Given the description of an element on the screen output the (x, y) to click on. 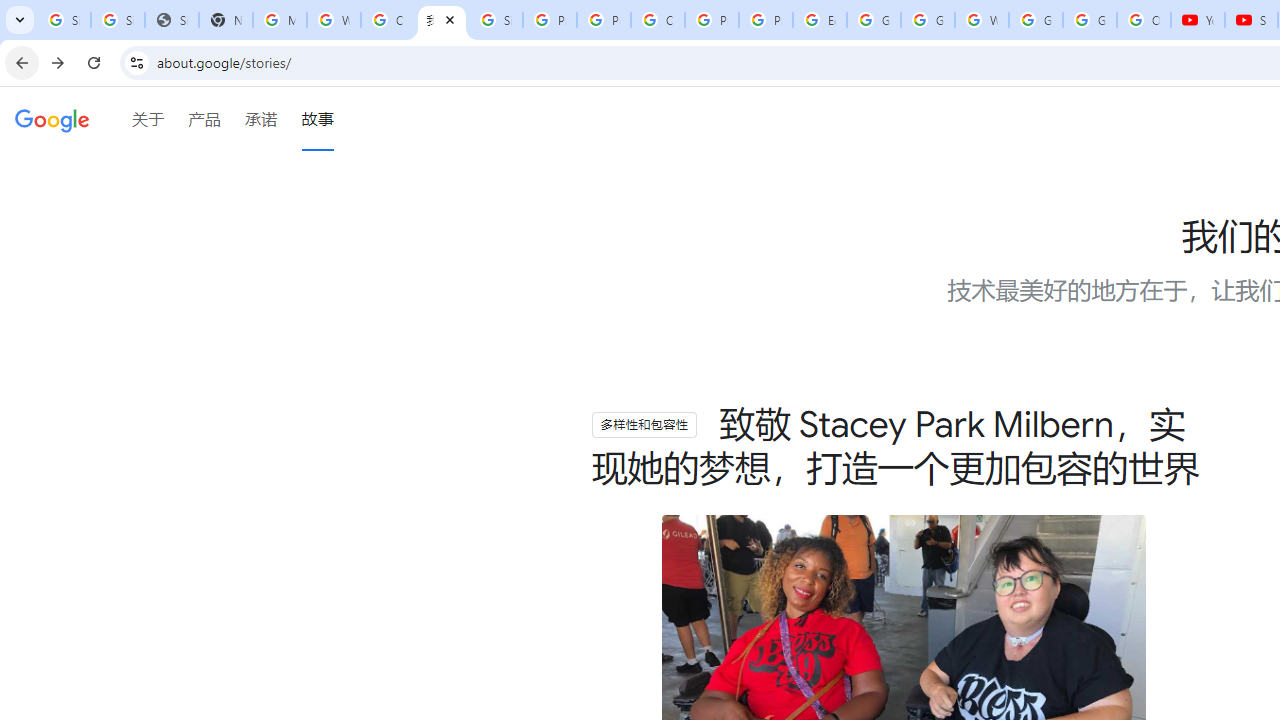
YouTube (1197, 20)
Sign In - USA TODAY (171, 20)
Google (52, 121)
Sign in - Google Accounts (117, 20)
